Given the description of an element on the screen output the (x, y) to click on. 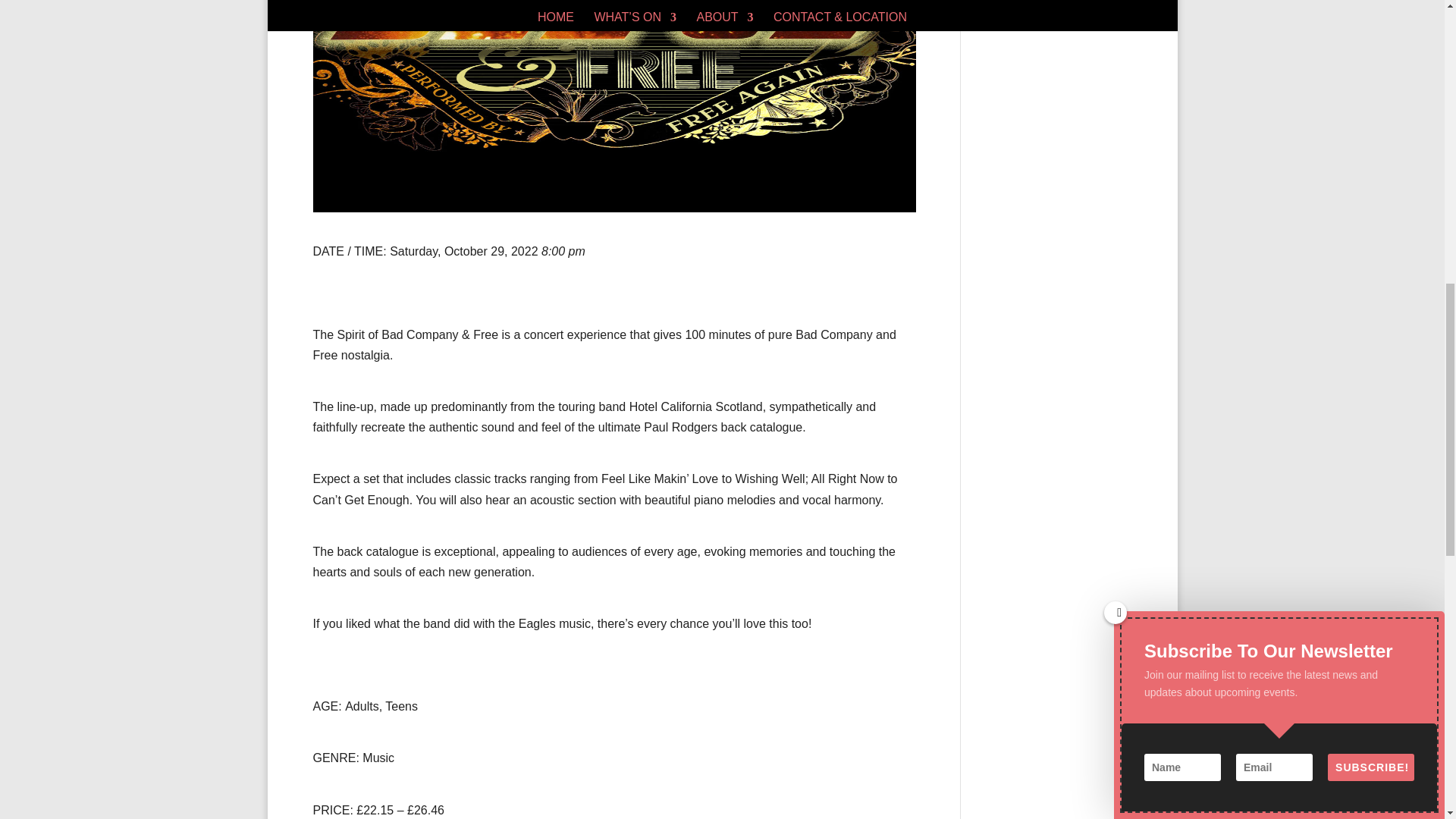
Events Calendar (1039, 25)
